Given the description of an element on the screen output the (x, y) to click on. 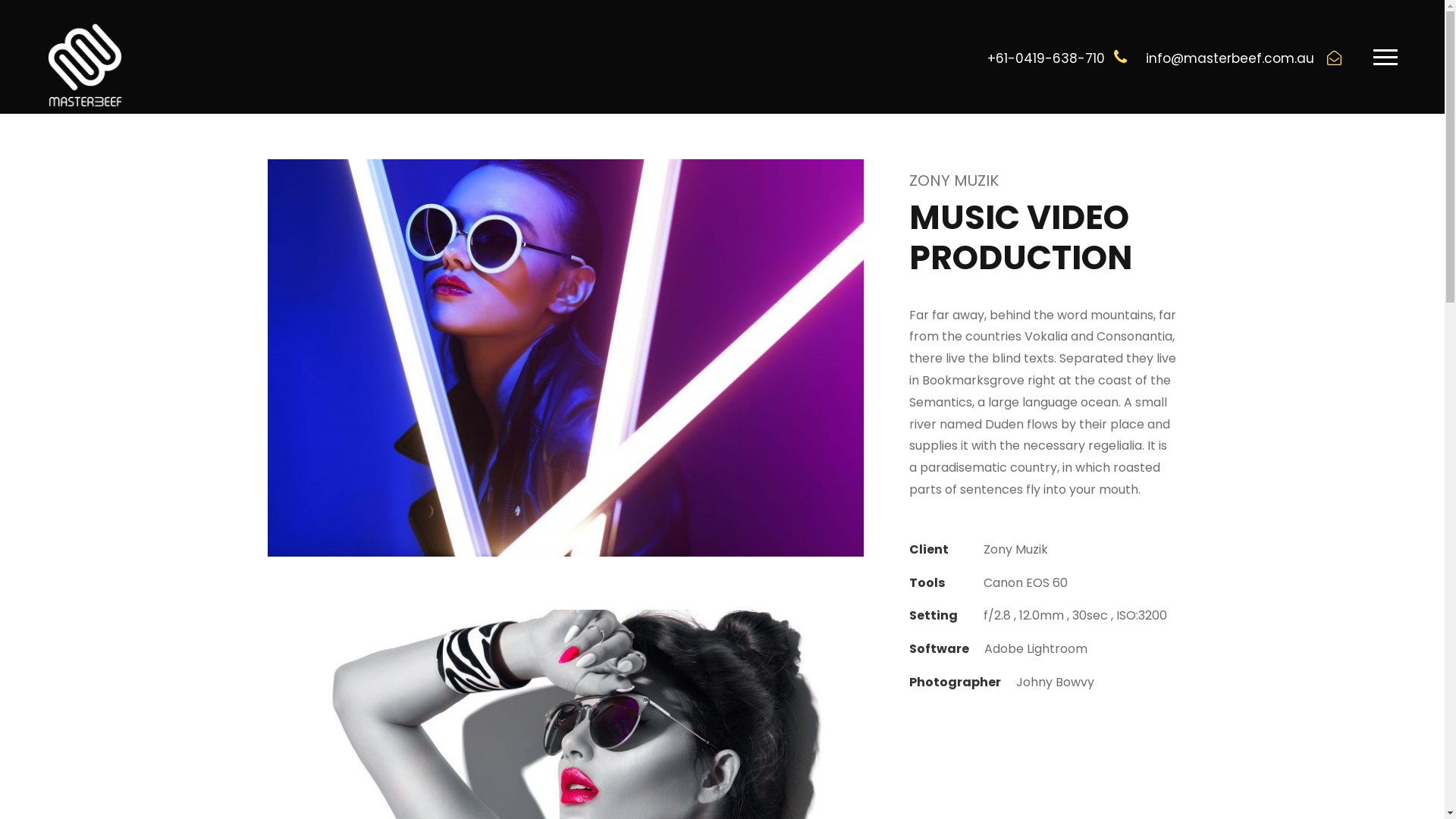
mblogowhite Element type: hover (84, 64)
